Given the description of an element on the screen output the (x, y) to click on. 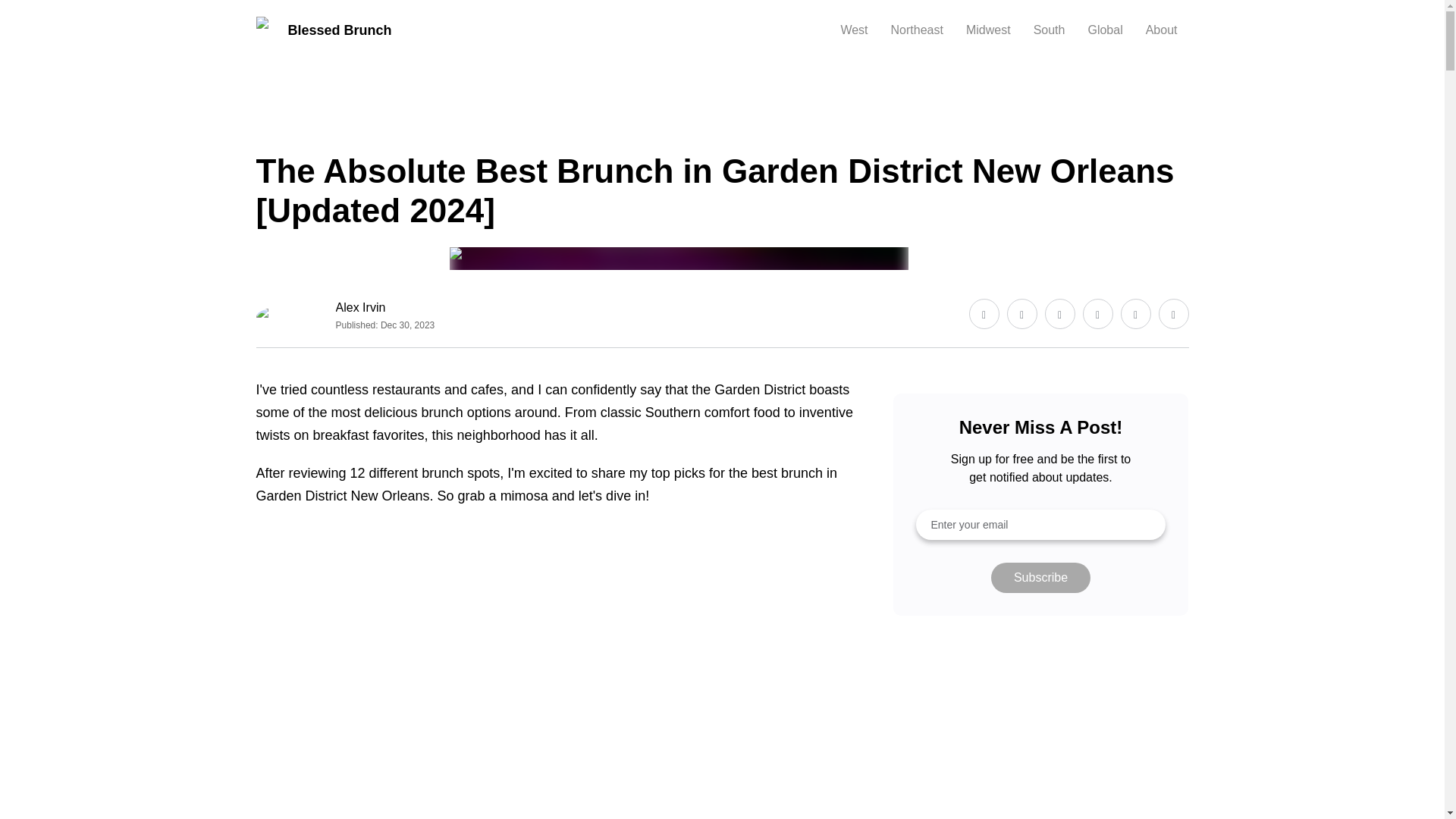
South (269, 128)
Blessed Brunch (323, 30)
Alex Irvin (385, 307)
